Given the description of an element on the screen output the (x, y) to click on. 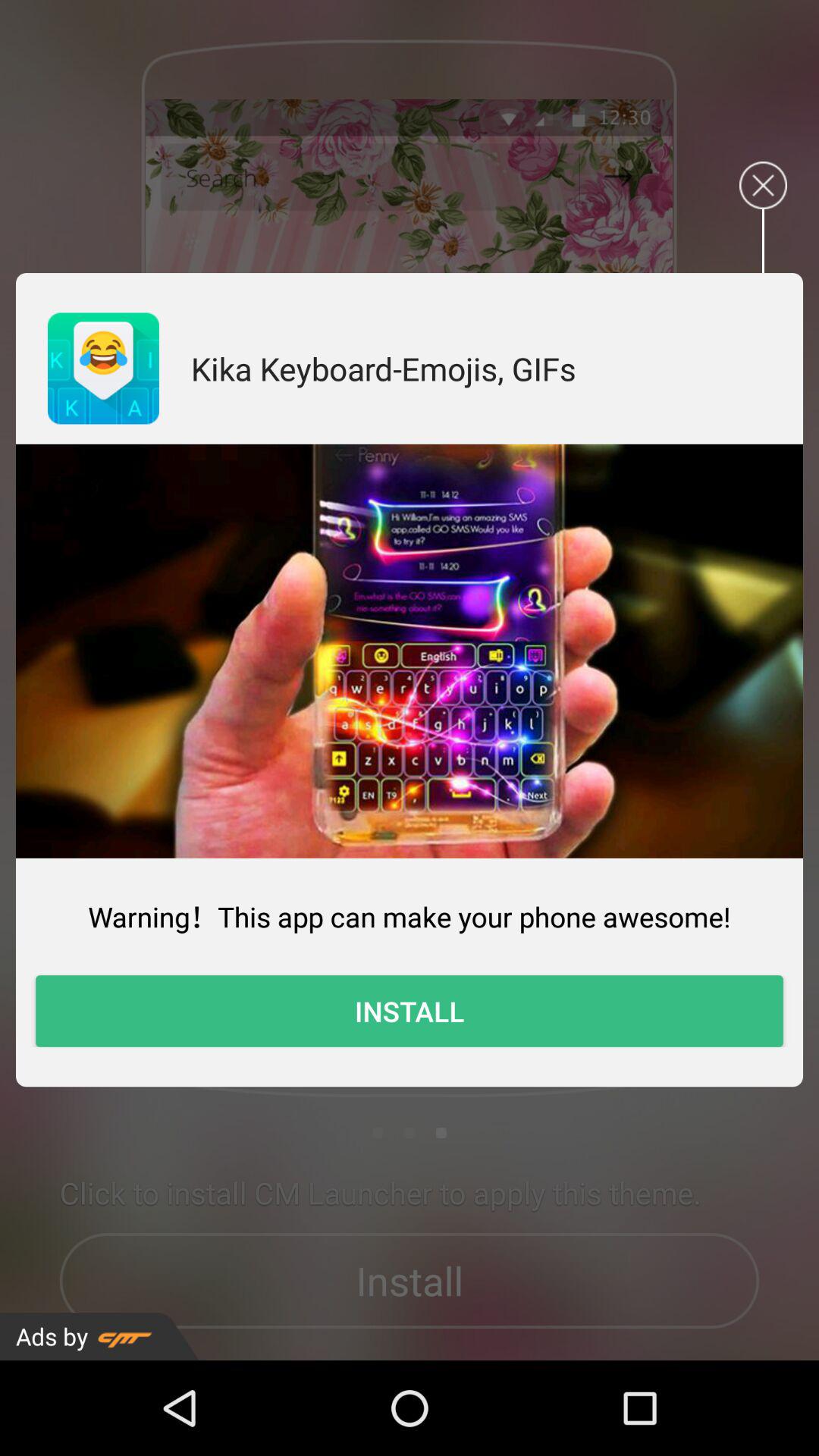
launch app above the warning this app (409, 651)
